Given the description of an element on the screen output the (x, y) to click on. 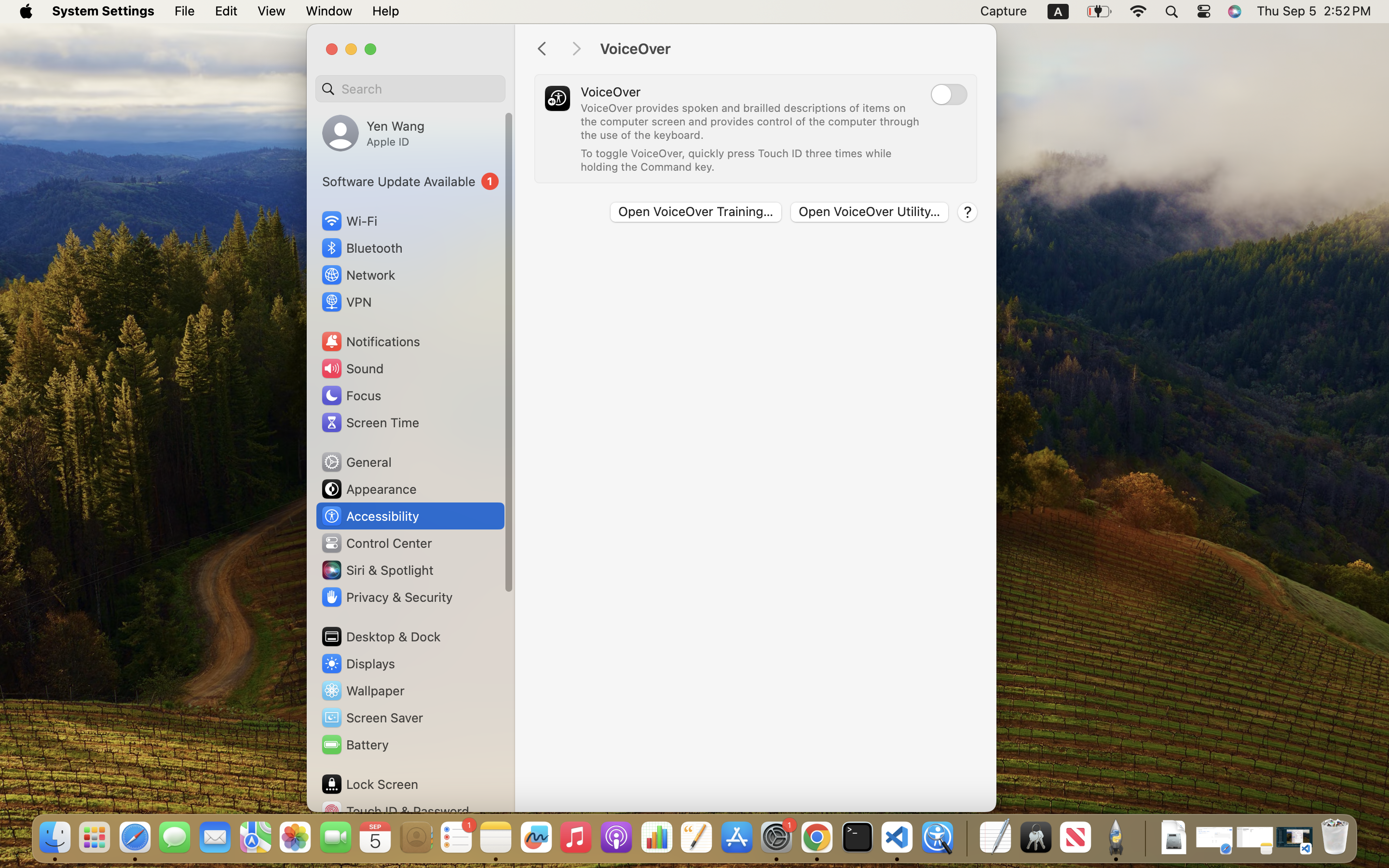
Displays Element type: AXStaticText (357, 663)
Privacy & Security Element type: AXStaticText (386, 596)
VPN Element type: AXStaticText (345, 301)
1 Element type: AXStaticText (410, 180)
Siri & Spotlight Element type: AXStaticText (376, 569)
